Given the description of an element on the screen output the (x, y) to click on. 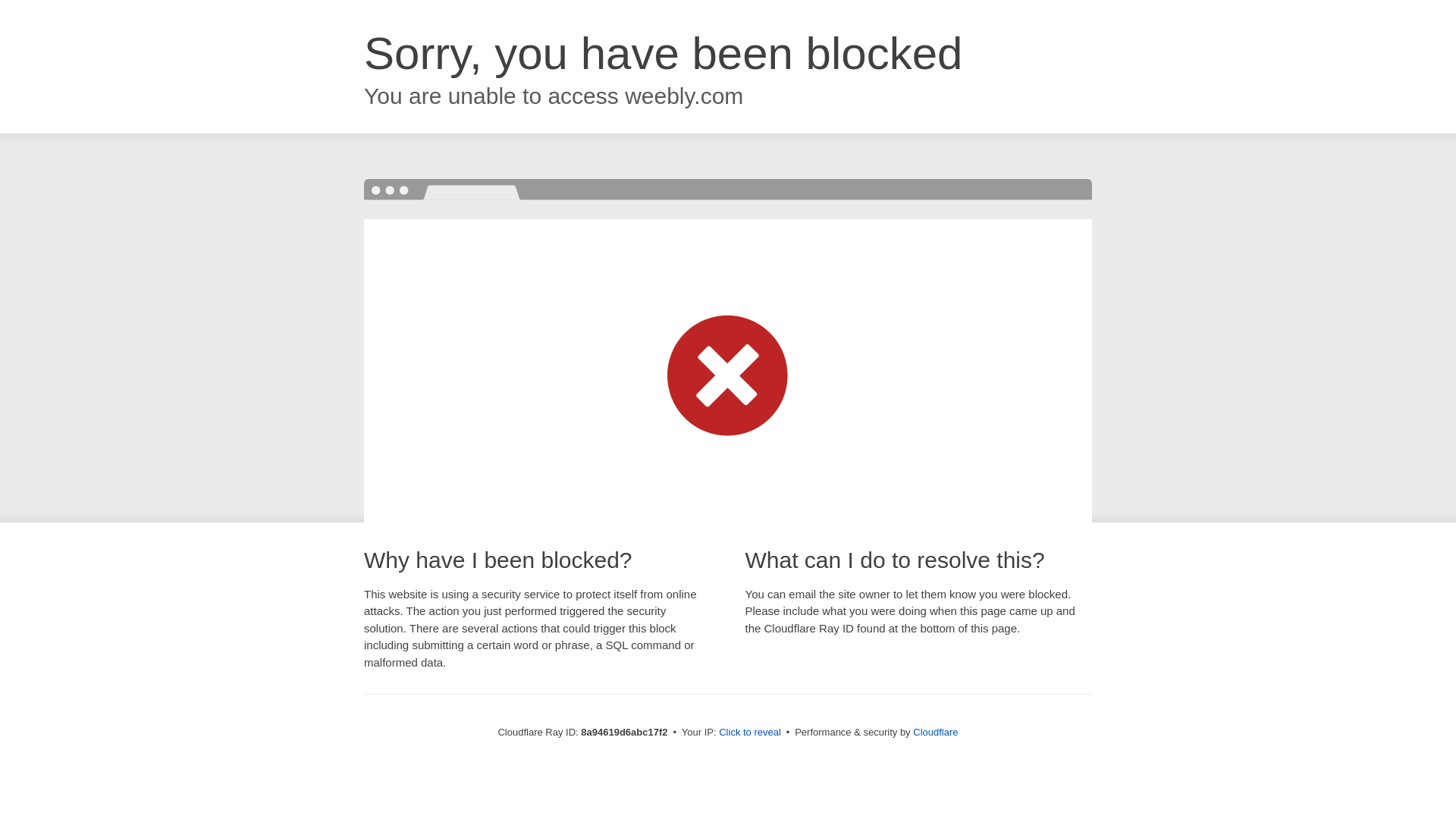
Click to reveal (749, 732)
Cloudflare (935, 731)
